Given the description of an element on the screen output the (x, y) to click on. 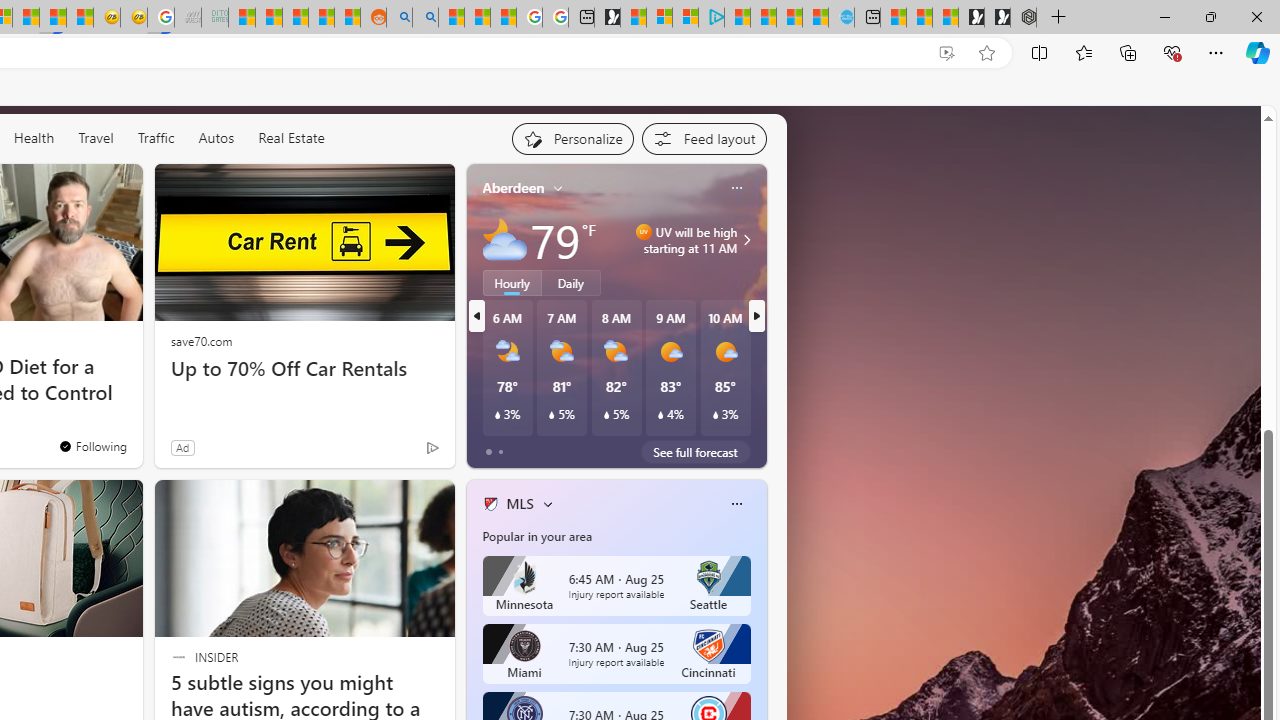
Mostly cloudy (504, 240)
Up to 70% Off Car Rentals (304, 368)
Aberdeen (513, 188)
Hourly (511, 282)
More interests (547, 503)
MLS (519, 503)
